Given the description of an element on the screen output the (x, y) to click on. 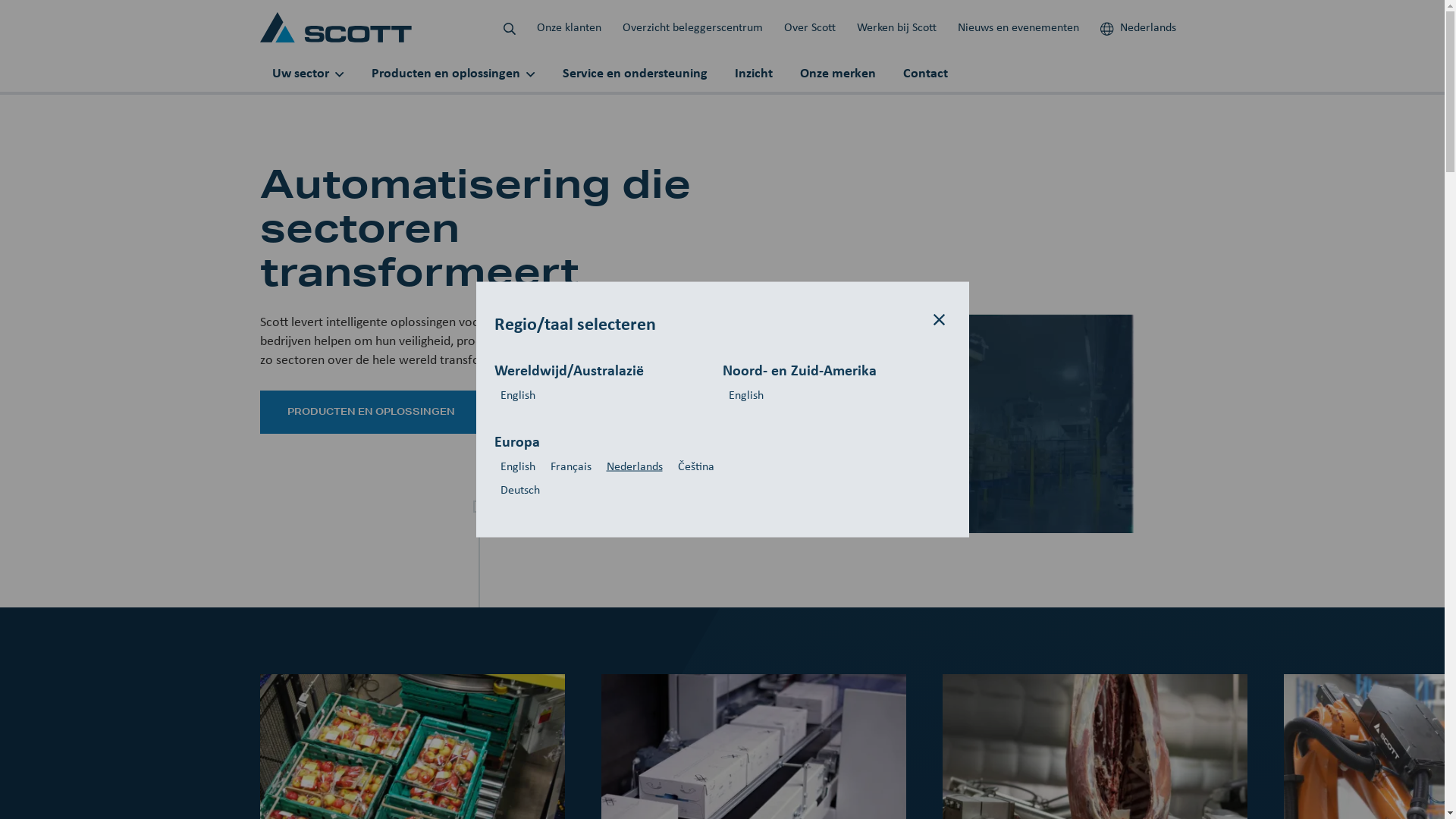
Overzicht beleggerscentrum Element type: text (691, 26)
Inzicht Element type: text (752, 72)
Nieuws en evenementen Element type: text (1017, 26)
Werken bij Scott Element type: text (896, 26)
Indienen Element type: text (748, 503)
Producten en oplossingen Element type: text (453, 72)
Nederlands Element type: text (1137, 26)
Onze merken Element type: text (837, 72)
Uw sector Element type: text (307, 72)
CONTACT Element type: text (549, 412)
Service en ondersteuning Element type: text (634, 72)
Over Scott Element type: text (809, 26)
PRODUCTEN EN OPLOSSINGEN Element type: text (370, 411)
Onze klanten Element type: text (568, 26)
Contact Element type: text (924, 72)
